Given the description of an element on the screen output the (x, y) to click on. 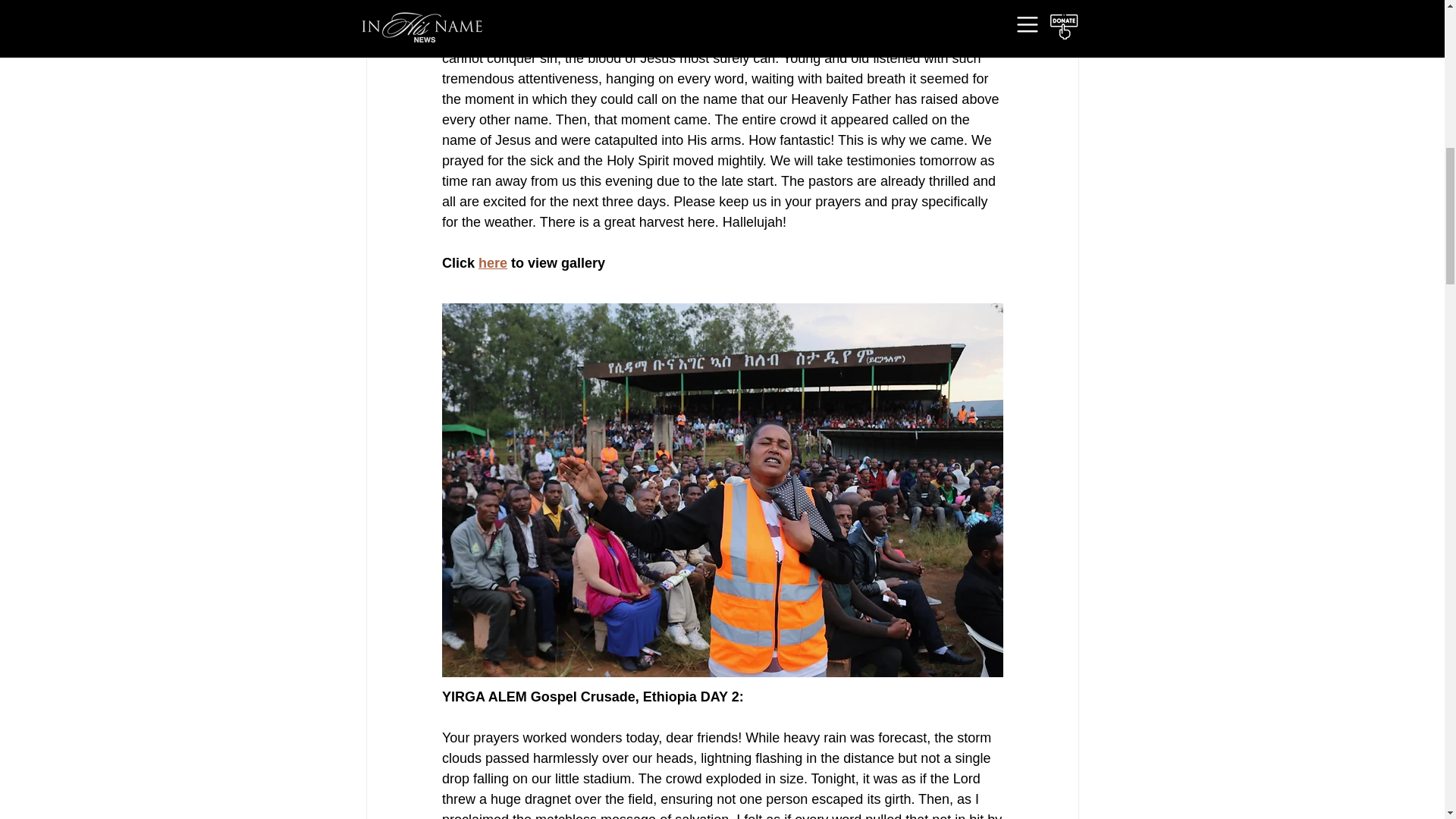
here (492, 263)
